Given the description of an element on the screen output the (x, y) to click on. 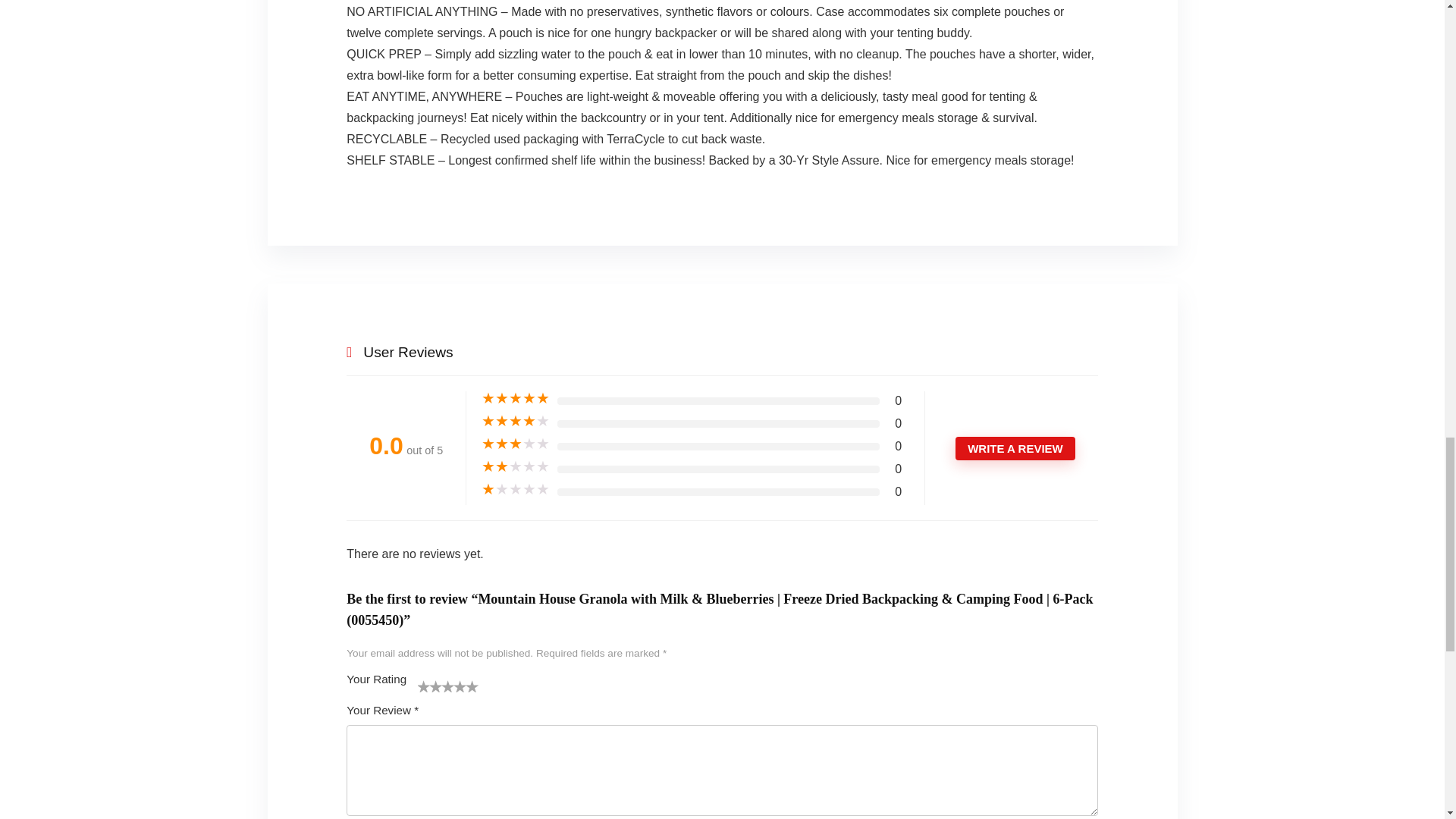
Rated 2 out of 5 (515, 467)
WRITE A REVIEW (1015, 448)
Rated 3 out of 5 (515, 444)
Rated 5 out of 5 (515, 398)
Rated 4 out of 5 (515, 421)
Rated 1 out of 5 (515, 489)
